Given the description of an element on the screen output the (x, y) to click on. 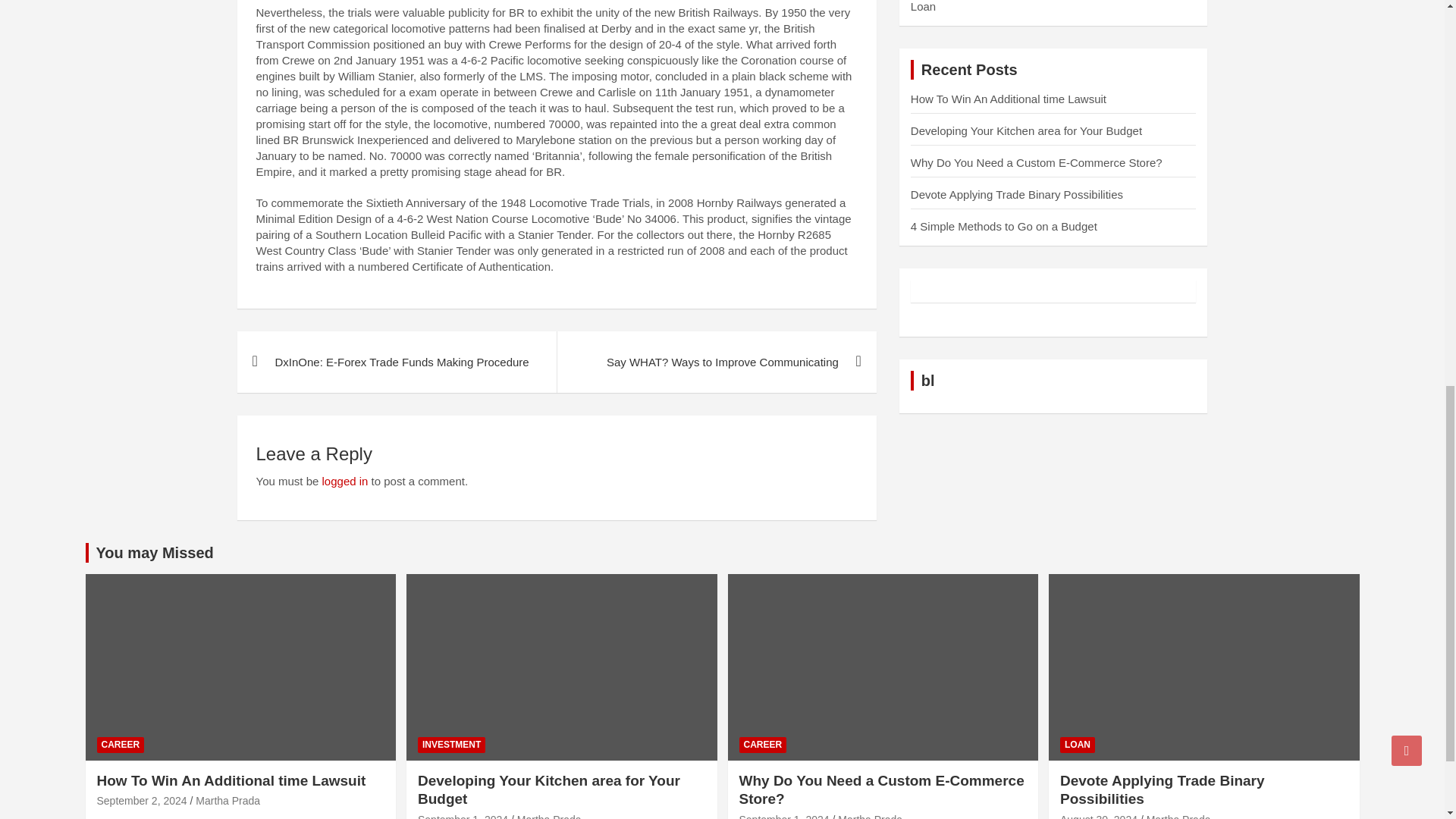
Developing Your Kitchen area for Your Budget (1026, 130)
Why Do You Need a Custom E-Commerce Store? (783, 816)
Developing Your Kitchen area for Your Budget (462, 816)
Devote Applying Trade Binary Possibilities (1016, 194)
Why Do You Need a Custom E-Commerce Store? (1036, 162)
How To Win An Additional time Lawsuit (1008, 98)
logged in (344, 481)
4 Simple Methods to Go on a Budget (1004, 226)
Say WHAT? Ways to Improve Communicating (716, 362)
You may Missed (154, 552)
